Given the description of an element on the screen output the (x, y) to click on. 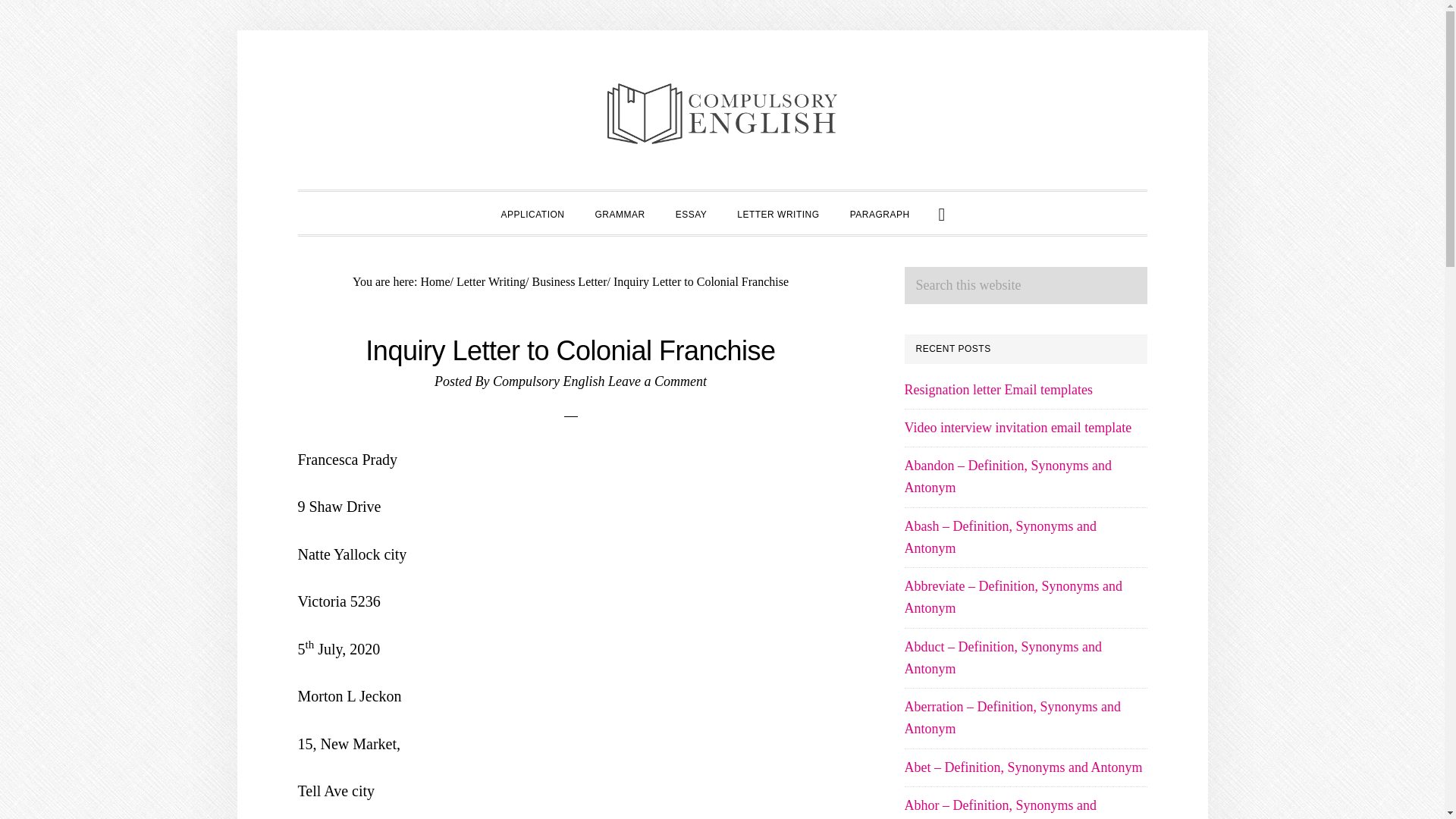
LETTER WRITING (778, 212)
PARAGRAPH (879, 212)
Compulsory English (549, 381)
Business Letter (569, 281)
Leave a Comment (657, 381)
Letter Writing (491, 281)
APPLICATION (531, 212)
